Given the description of an element on the screen output the (x, y) to click on. 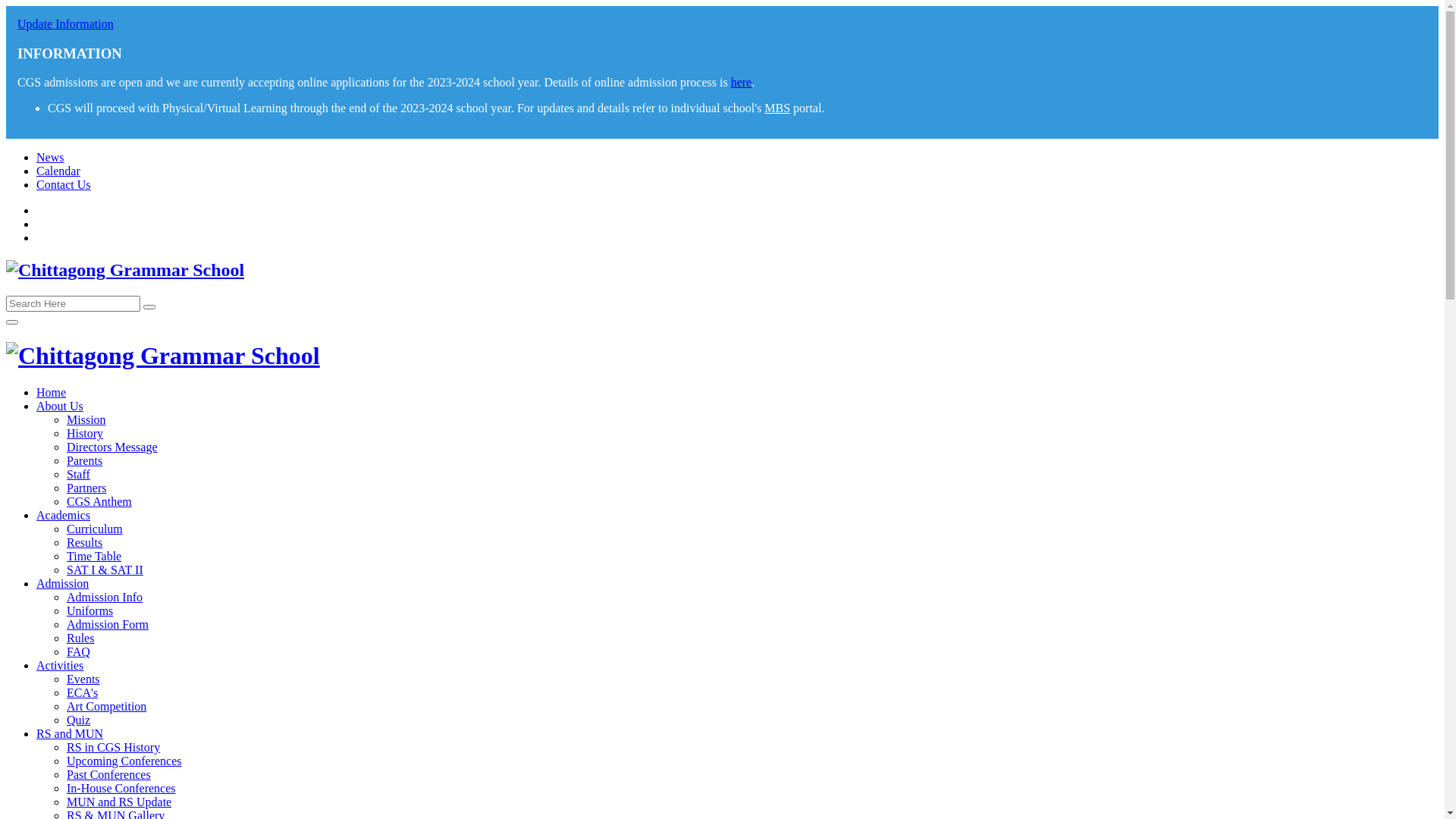
Rules Element type: text (80, 637)
Parents Element type: text (84, 460)
In-House Conferences Element type: text (120, 787)
Admission Info Element type: text (104, 596)
Upcoming Conferences Element type: text (124, 760)
About Us Element type: text (59, 405)
History Element type: text (84, 432)
Quiz Element type: text (78, 719)
Calendar Element type: text (58, 170)
Home Element type: text (50, 391)
RS and MUN Element type: text (69, 733)
here Element type: text (741, 81)
Academics Element type: text (63, 514)
Staff Element type: text (78, 473)
Mission Element type: text (86, 419)
Events Element type: text (83, 678)
Art Competition Element type: text (106, 705)
Contact Us Element type: text (63, 184)
Admission Form Element type: text (107, 624)
Directors Message Element type: text (111, 446)
Time Table Element type: text (93, 555)
News Element type: text (49, 156)
Past Conferences Element type: text (108, 774)
MUN and RS Update Element type: text (118, 801)
MBS Element type: text (777, 107)
Results Element type: text (84, 542)
Activities Element type: text (59, 664)
CGS Anthem Element type: text (98, 501)
Curriculum Element type: text (94, 528)
ECA's Element type: text (81, 692)
RS in CGS History Element type: text (113, 746)
FAQ Element type: text (78, 651)
Partners Element type: text (86, 487)
SAT I & SAT II Element type: text (104, 569)
Admission Element type: text (62, 583)
Uniforms Element type: text (89, 610)
Update Information Element type: text (65, 23)
1 Element type: text (149, 306)
